Given the description of an element on the screen output the (x, y) to click on. 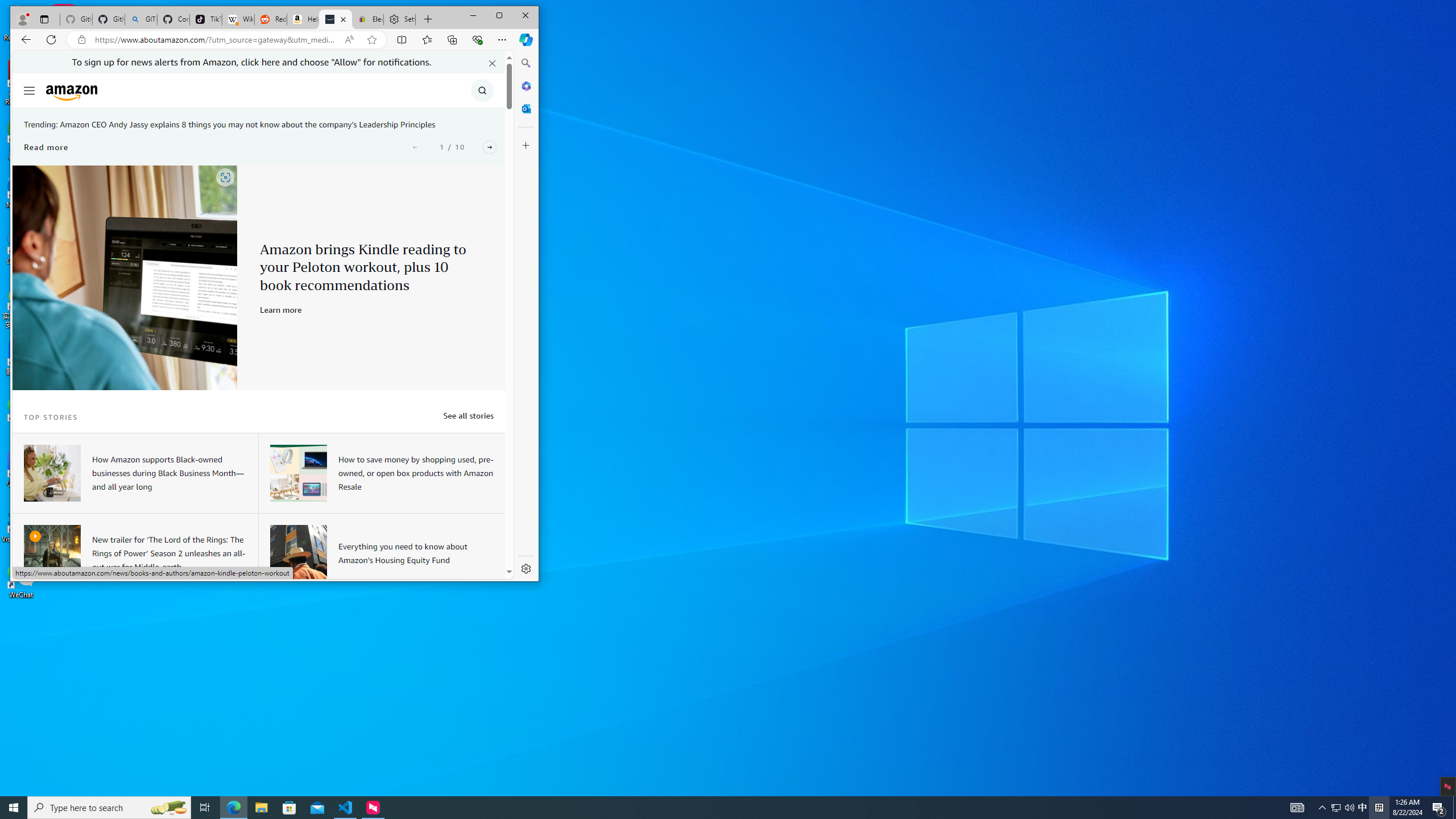
Next (489, 146)
Help & Contact Us - Amazon Customer Service (303, 19)
Class: icon-search (481, 89)
Peloton x Kindle (125, 277)
Action Center, 2 new notifications (1439, 807)
Running applications (707, 807)
Menu (29, 90)
